Given the description of an element on the screen output the (x, y) to click on. 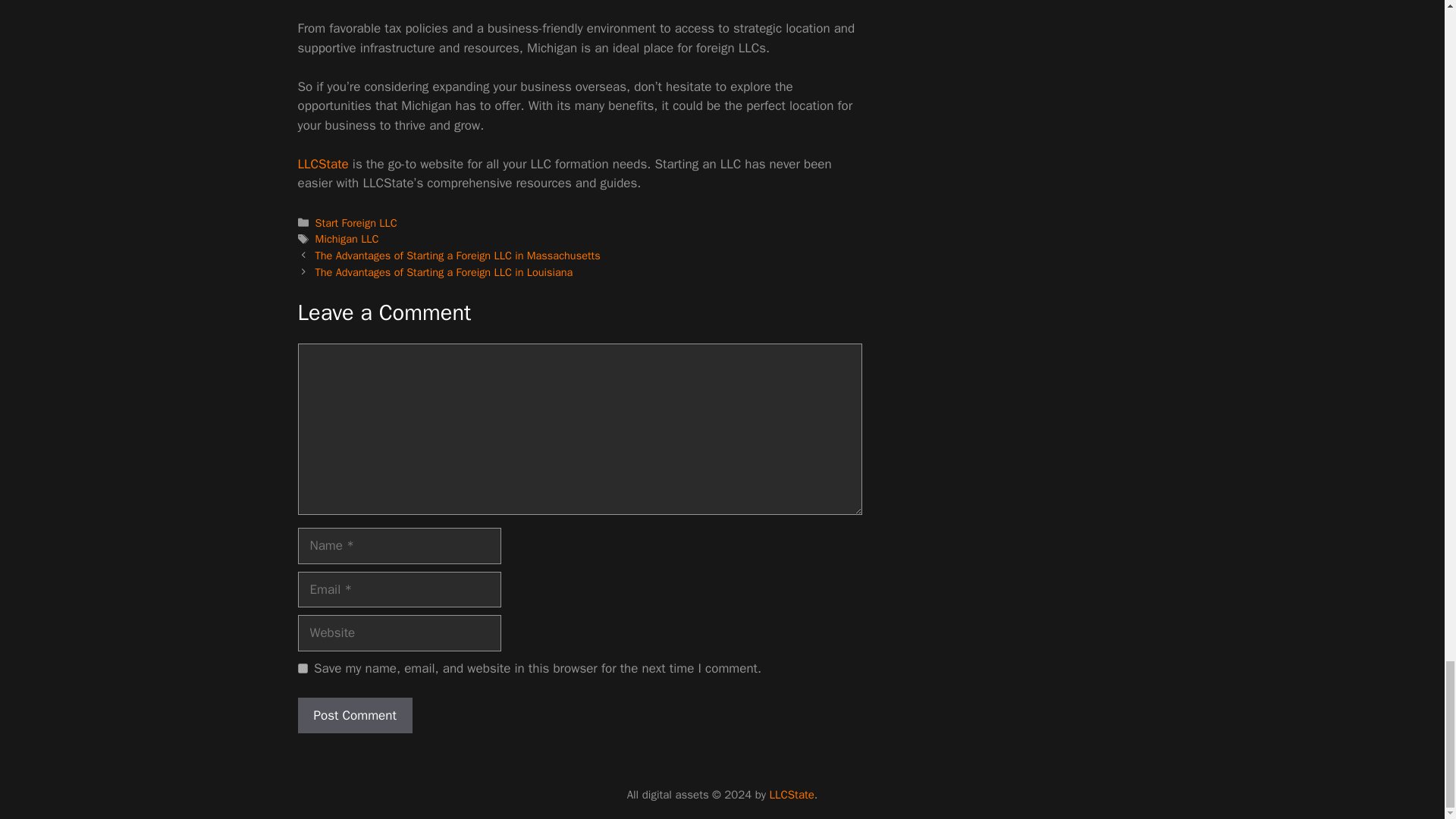
yes (302, 668)
Post Comment (354, 715)
LLCState (322, 163)
Michigan LLC (346, 238)
The Advantages of Starting a Foreign LLC in Louisiana (444, 272)
The Advantages of Starting a Foreign LLC in Massachusetts (457, 255)
Post Comment (354, 715)
Start Foreign LLC (356, 223)
LLCState (322, 163)
